Given the description of an element on the screen output the (x, y) to click on. 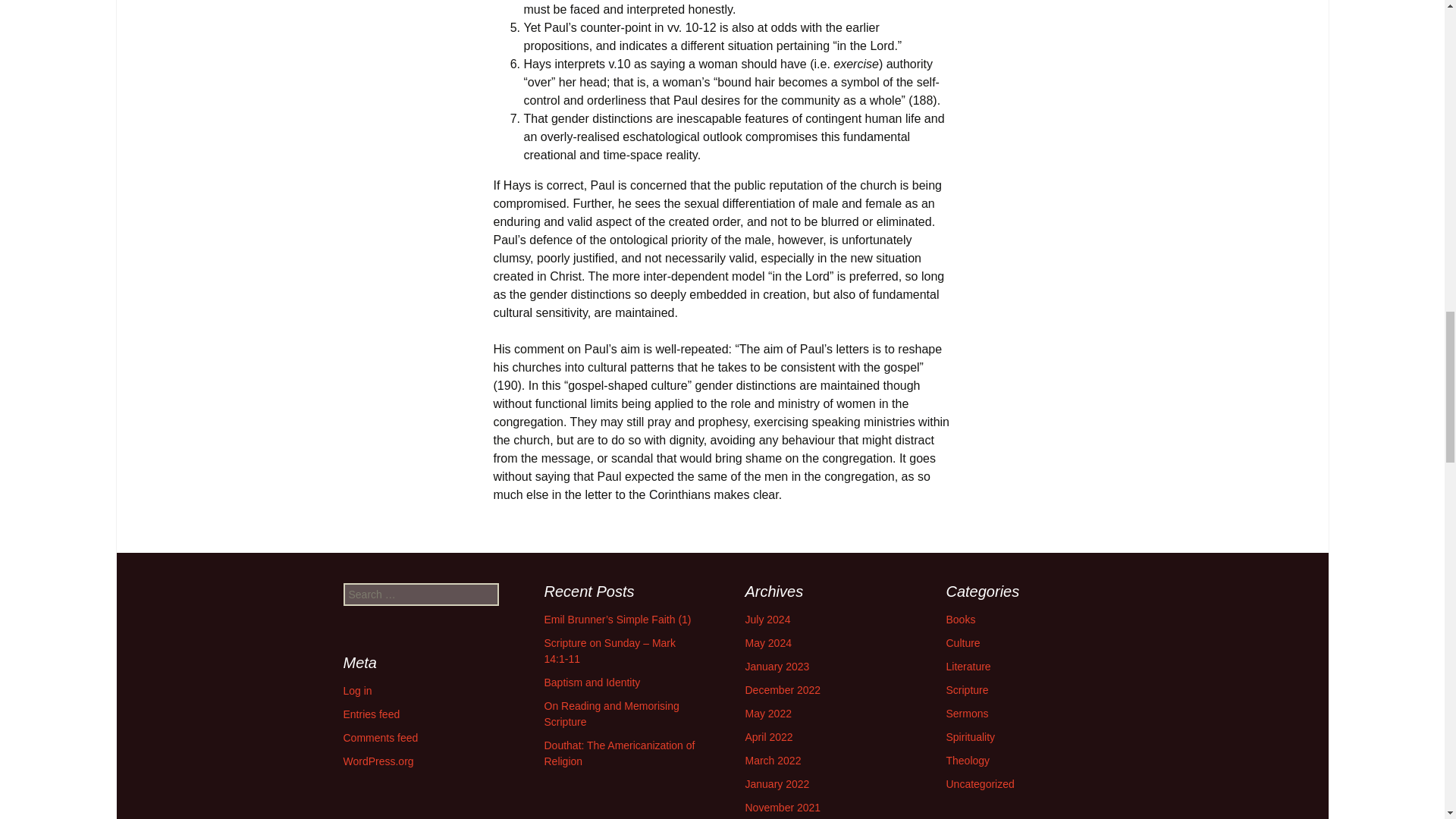
May 2024 (767, 643)
January 2023 (776, 666)
May 2022 (767, 713)
November 2021 (782, 807)
January 2022 (776, 784)
July 2024 (767, 619)
December 2022 (782, 689)
Douthat: The Americanization of Religion (619, 753)
March 2022 (772, 760)
April 2022 (768, 736)
